Given the description of an element on the screen output the (x, y) to click on. 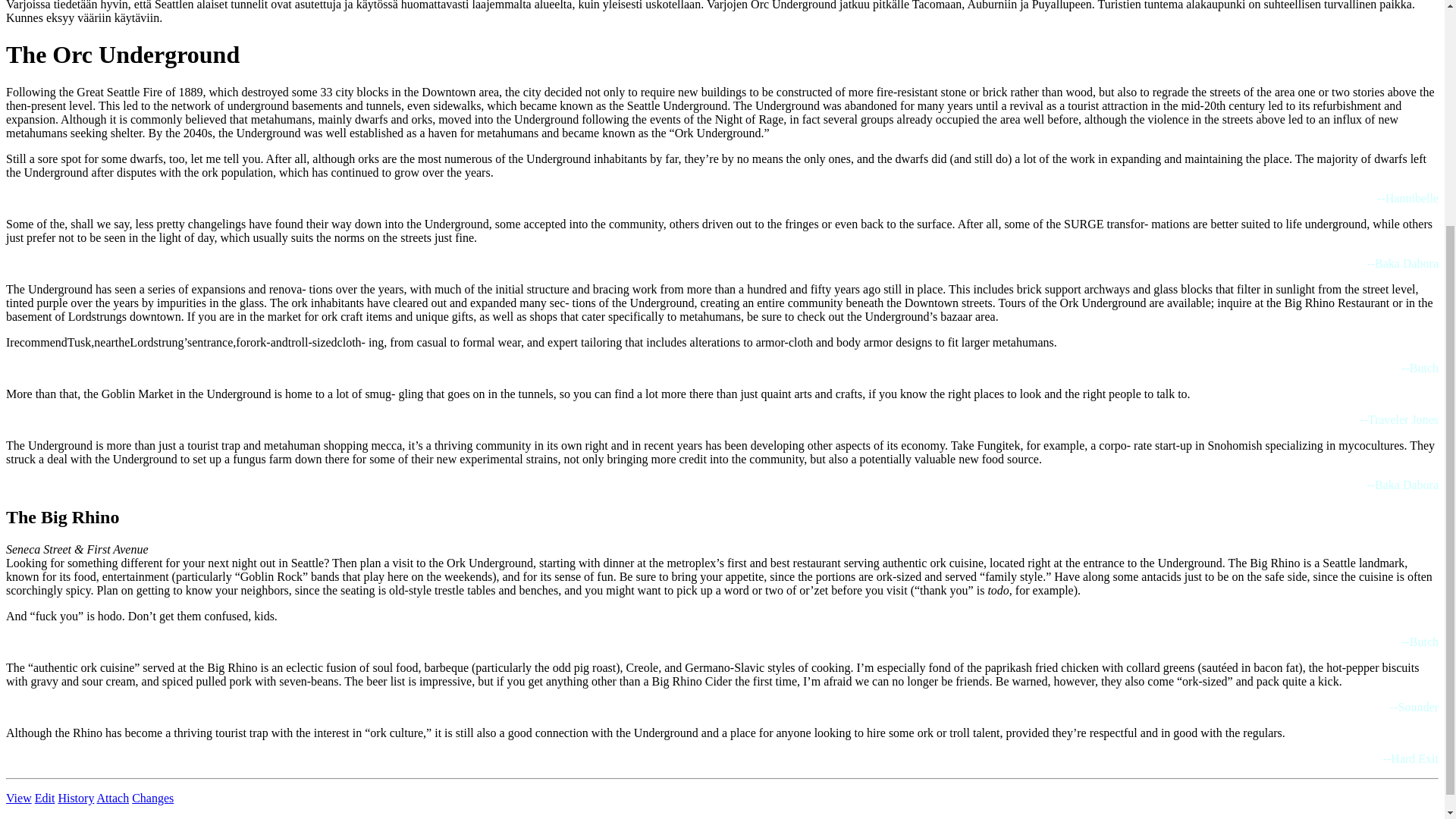
History (76, 797)
View (18, 797)
Changes (152, 797)
Edit (44, 797)
Attach (113, 797)
